Given the description of an element on the screen output the (x, y) to click on. 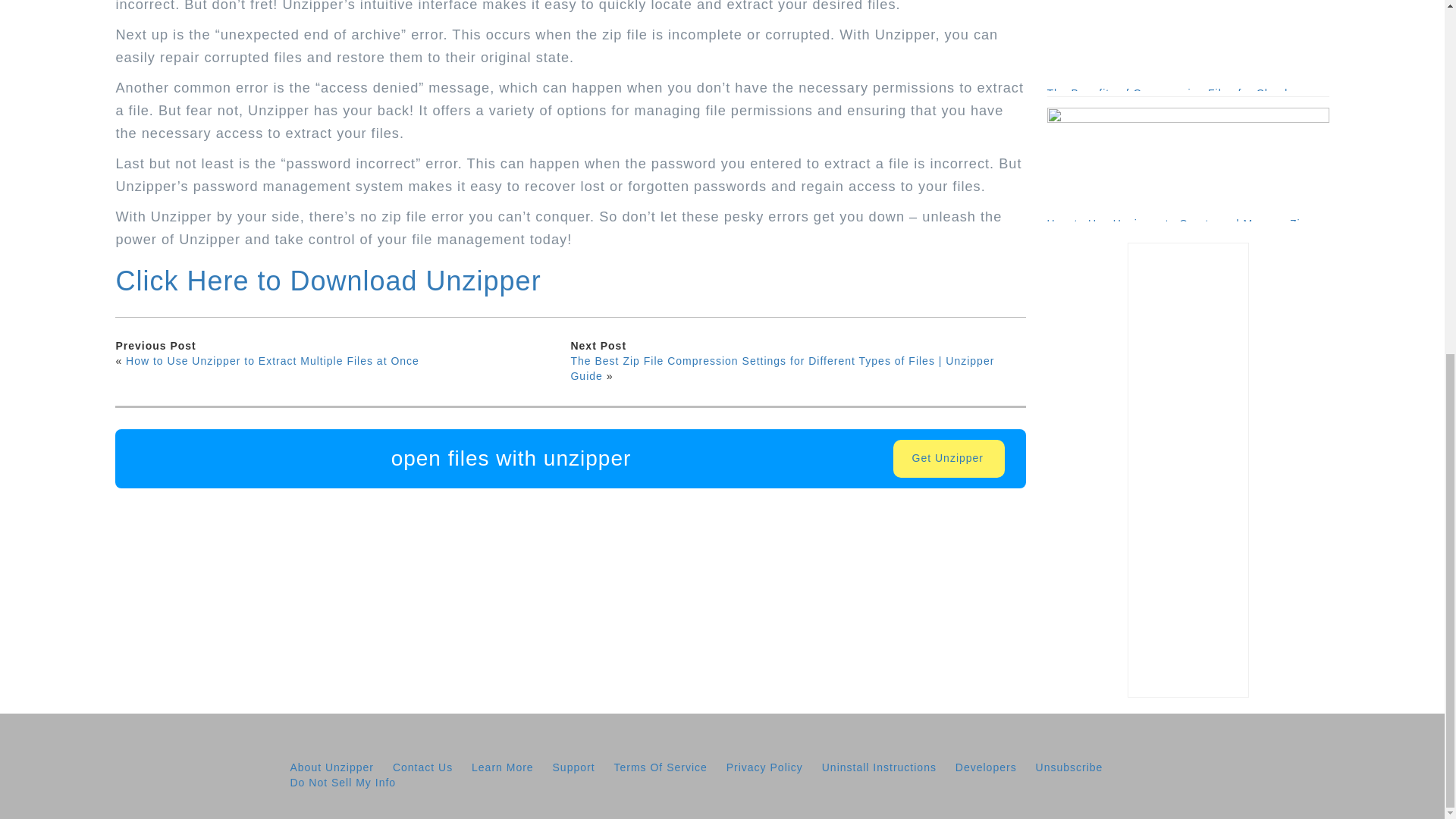
Contact Us (422, 767)
Privacy Policy (764, 767)
Support (574, 767)
Get Unzipper (948, 458)
Uninstall Instructions (879, 767)
How to Use Unzipper to Extract Multiple Files at Once (272, 360)
Learn More (502, 767)
The Benefits of Compressing Files for Cloud Storage (1187, 45)
Terms of Service (659, 767)
Click Here to Download Unzipper (327, 280)
How to Use Unzipper to Create and Manage Zip Archives (1187, 164)
About Unzipper (331, 767)
Contact Us (422, 767)
About Unzipper (331, 767)
